Given the description of an element on the screen output the (x, y) to click on. 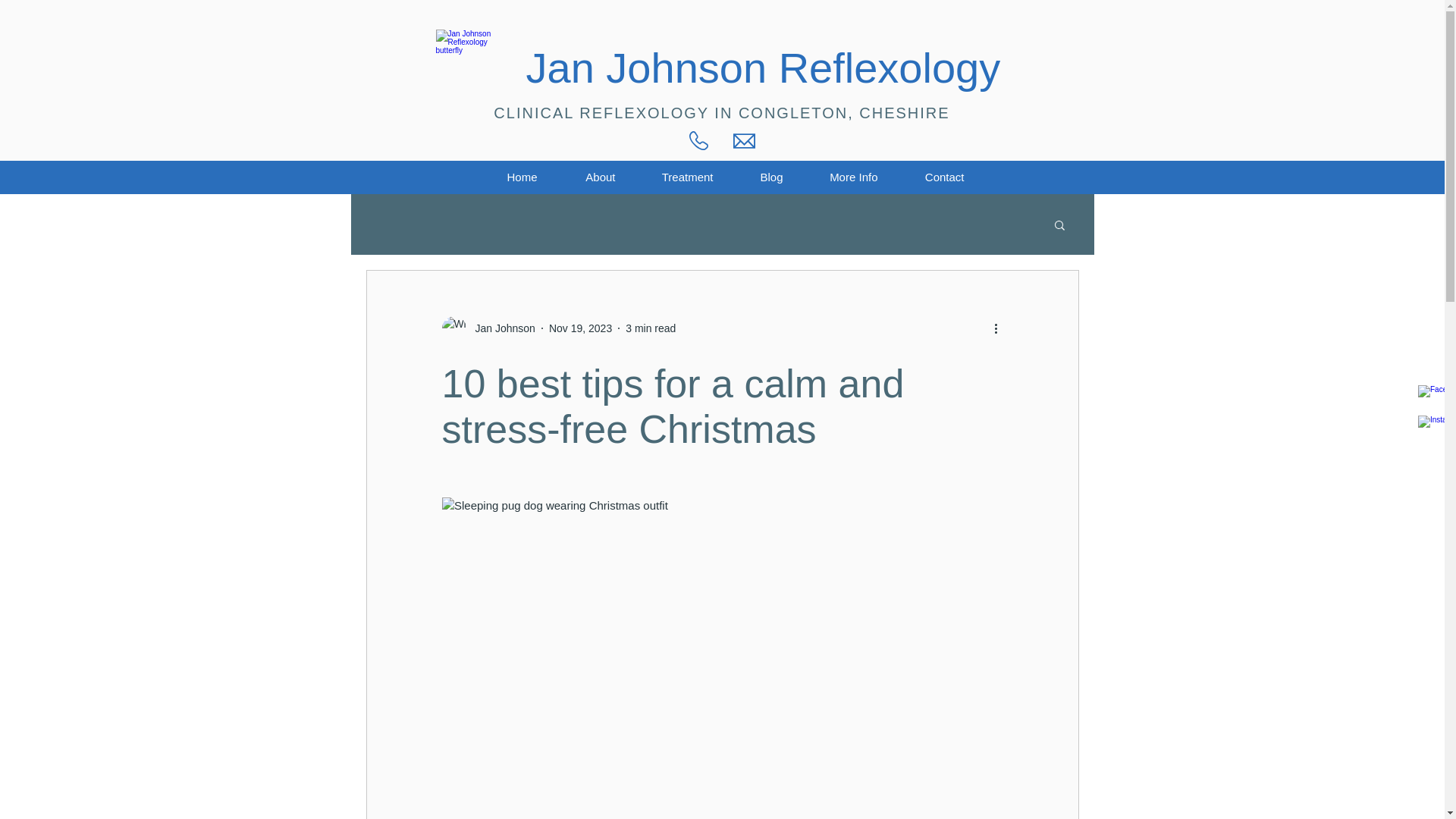
More Info (841, 176)
3 min read (650, 327)
Nov 19, 2023 (579, 327)
Jan Johnson (499, 327)
Home (509, 176)
About (587, 176)
Blog (759, 176)
Jan Johnson Reflexology butterfly (471, 66)
Contact (931, 176)
Treatment (674, 176)
